Given the description of an element on the screen output the (x, y) to click on. 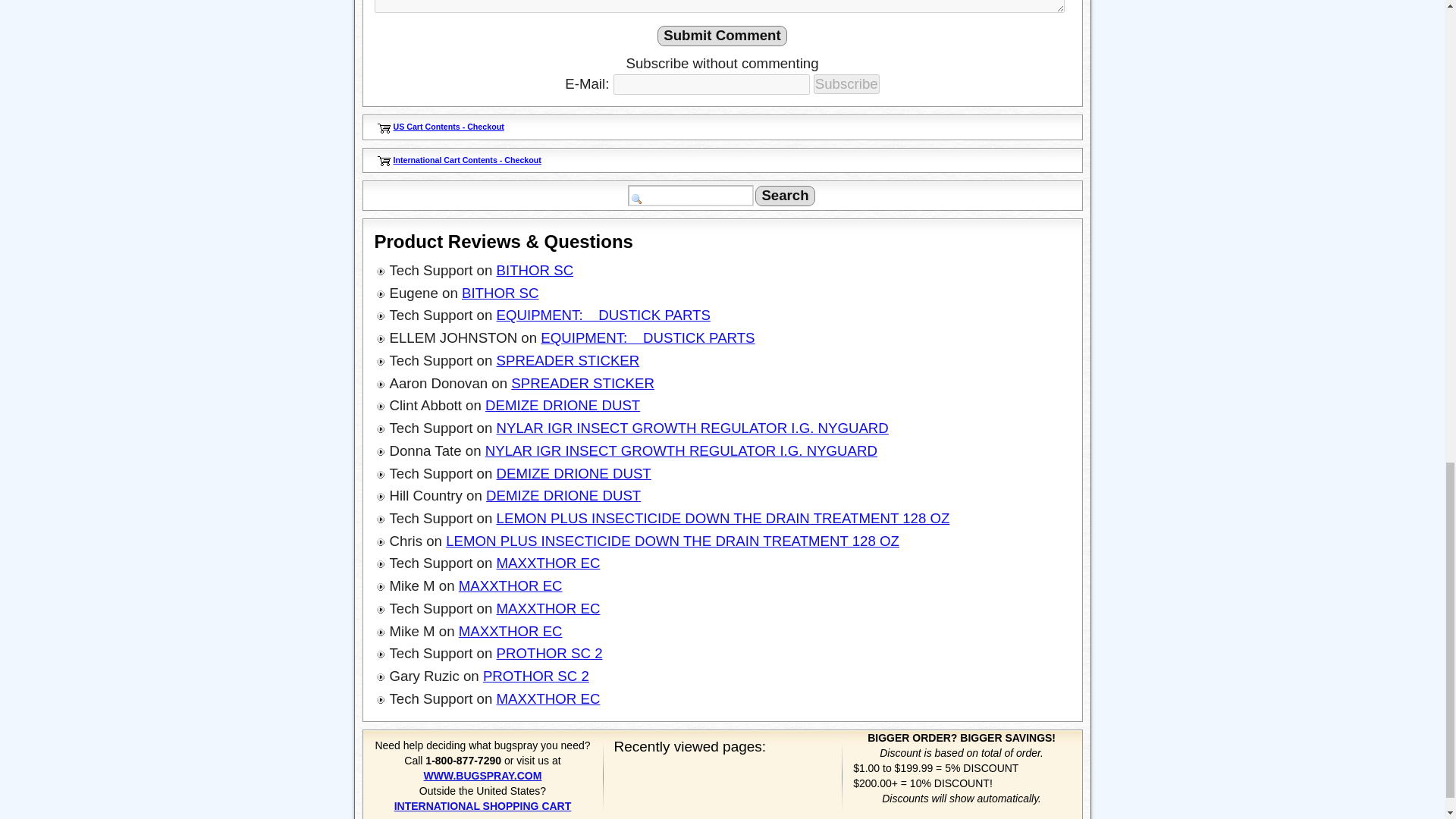
SPREADER STICKER (568, 360)
DEMIZE DRIONE DUST (563, 495)
MAXXTHOR EC (547, 562)
Subscribe (846, 84)
NYLAR IGR INSECT GROWTH REGULATOR I.G. NYGUARD (680, 450)
BITHOR SC (534, 270)
International Cart Contents - Checkout (466, 159)
DEMIZE DRIONE DUST (562, 405)
US Cart Contents - Checkout (448, 126)
LEMON PLUS INSECTICIDE DOWN THE DRAIN TREATMENT 128 OZ (672, 540)
Submit Comment (722, 35)
EQUIPMENT:    DUSTICK PARTS (603, 314)
NYLAR IGR INSECT GROWTH REGULATOR I.G. NYGUARD (692, 427)
Subscribe (846, 84)
Search (784, 195)
